Given the description of an element on the screen output the (x, y) to click on. 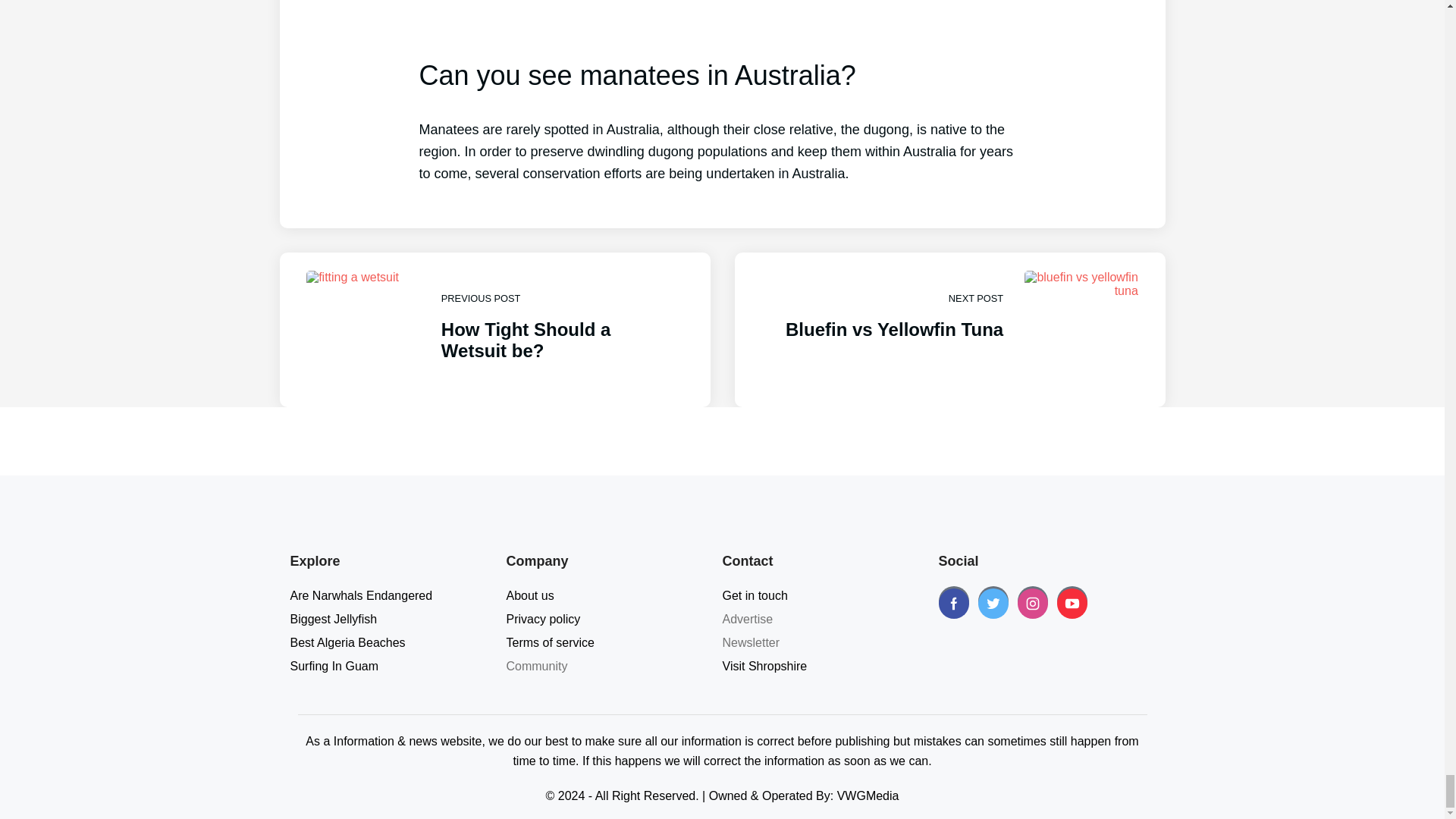
Newsletter (750, 642)
Are Narwhals Endangered (360, 594)
Terms of service (550, 642)
Get in touch (754, 594)
Privacy policy (494, 329)
Visit Shropshire (543, 618)
Best Algeria Beaches (764, 666)
About us (346, 642)
Biggest Jellyfish (530, 594)
Surfing In Guam (333, 618)
Community (333, 666)
